Given the description of an element on the screen output the (x, y) to click on. 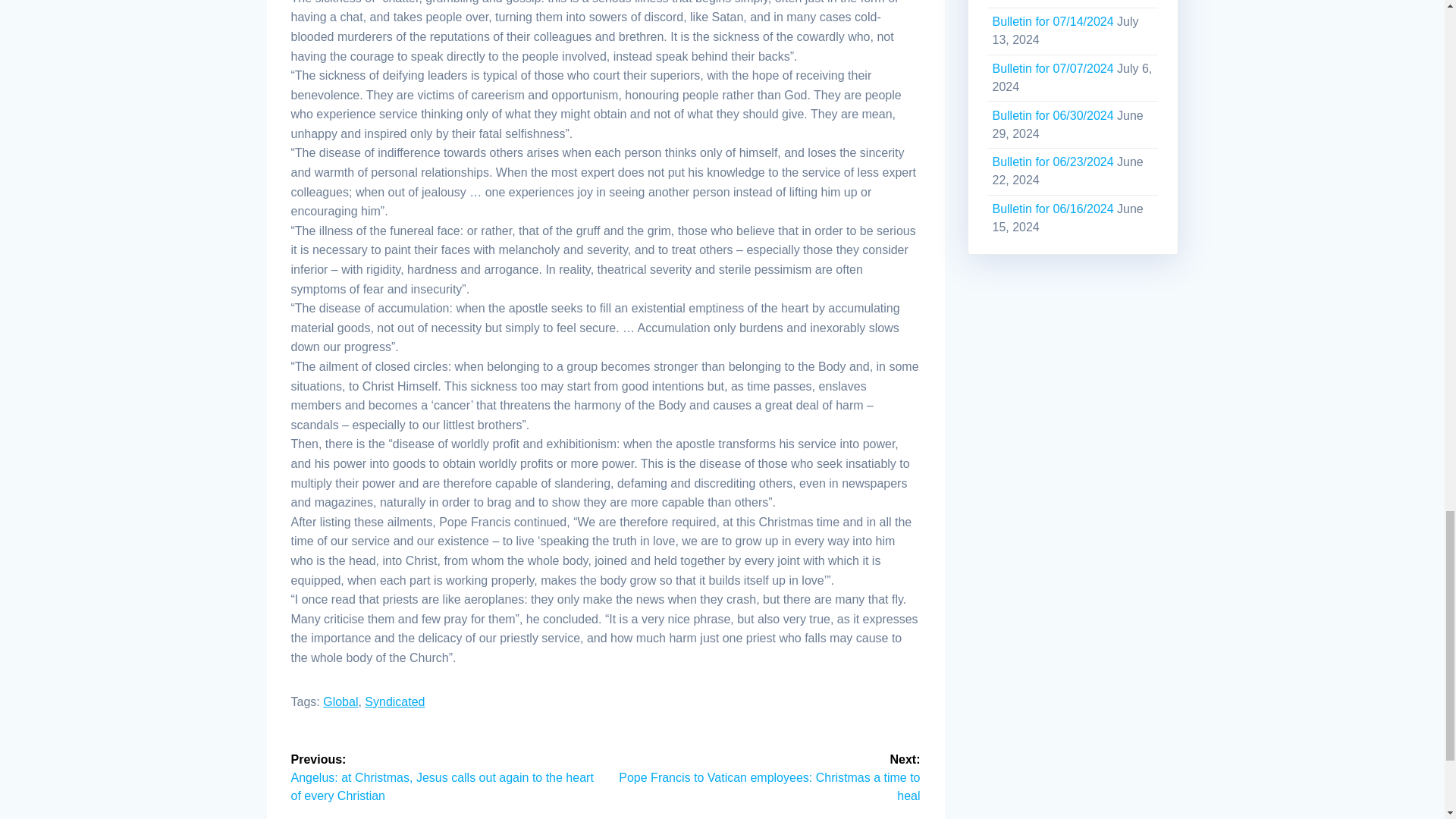
Syndicated (395, 701)
Global (340, 701)
